Given the description of an element on the screen output the (x, y) to click on. 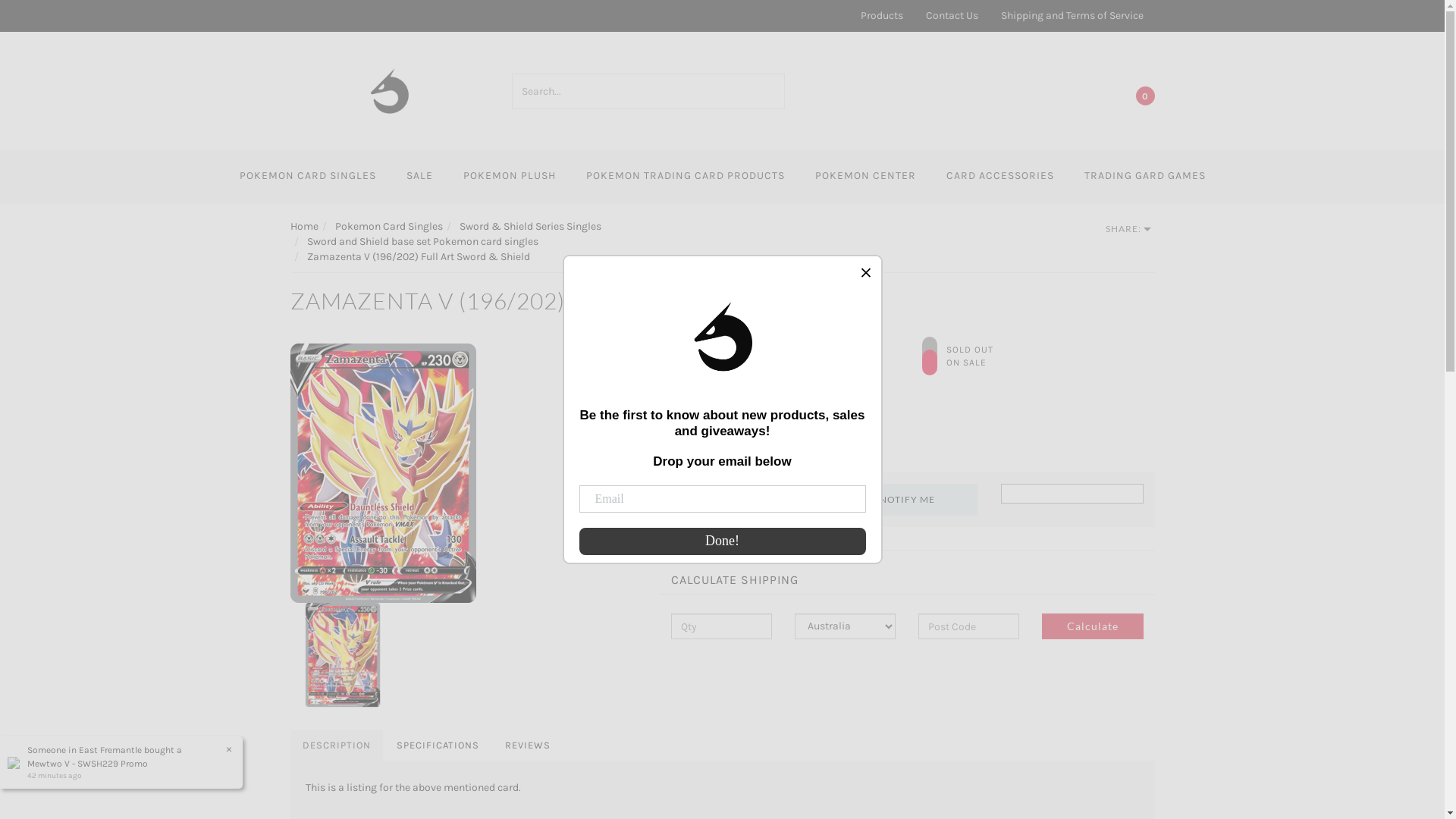
Products Element type: text (881, 15)
TrainerHub Element type: hover (389, 89)
POKEMON CARD SINGLES Element type: text (307, 176)
Home Element type: text (303, 225)
POKEMON CENTER Element type: text (864, 176)
POKEMON TRADING CARD PRODUCTS Element type: text (684, 176)
DESCRIPTION Element type: text (335, 745)
Large View Element type: hover (382, 472)
SPECIFICATIONS Element type: text (436, 745)
NOTIFY ME Element type: text (906, 499)
Contact Us Element type: text (951, 15)
Search Element type: text (774, 91)
Sword & Shield Series Singles Element type: text (530, 225)
Mewtwo V - SWSH229 Promo Element type: text (87, 763)
TRADING GARD GAMES Element type: text (1144, 176)
REVIEWS Element type: text (527, 745)
POKEMON PLUSH Element type: text (508, 176)
Sword and Shield base set Pokemon card singles Element type: text (421, 241)
SHARE: Element type: text (1127, 228)
CARD ACCESSORIES Element type: text (1000, 176)
Shipping and Terms of Service Element type: text (1071, 15)
SALE Element type: text (419, 176)
Pokemon Card Singles Element type: text (388, 225)
Calculate Element type: text (1091, 626)
Zamazenta V (196/202) Full Art Sword & Shield Element type: text (417, 256)
